Given the description of an element on the screen output the (x, y) to click on. 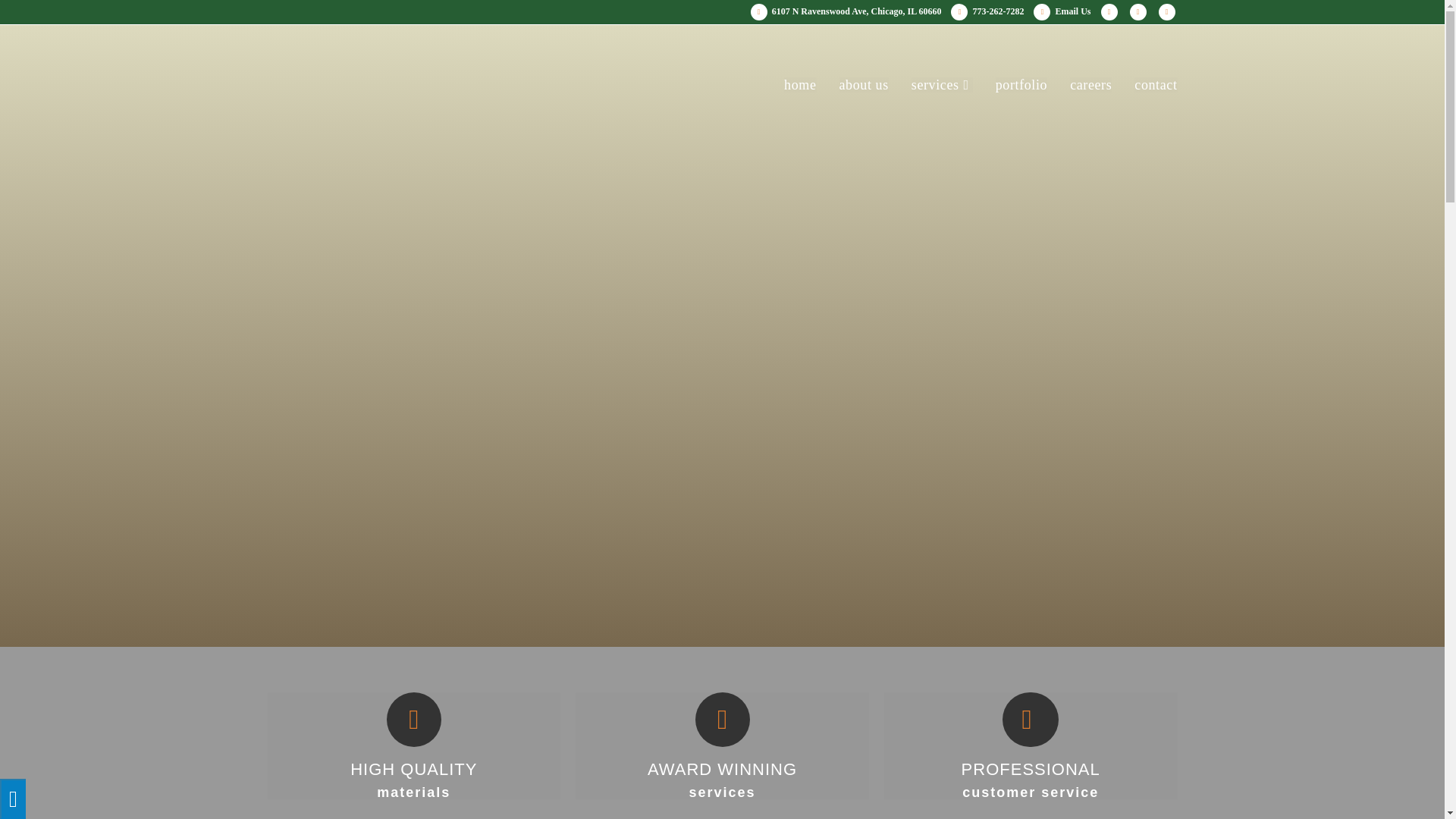
services (941, 84)
6107 N Ravenswood Ave, Chicago, IL 60660 (842, 12)
Email Us (1058, 10)
